Given the description of an element on the screen output the (x, y) to click on. 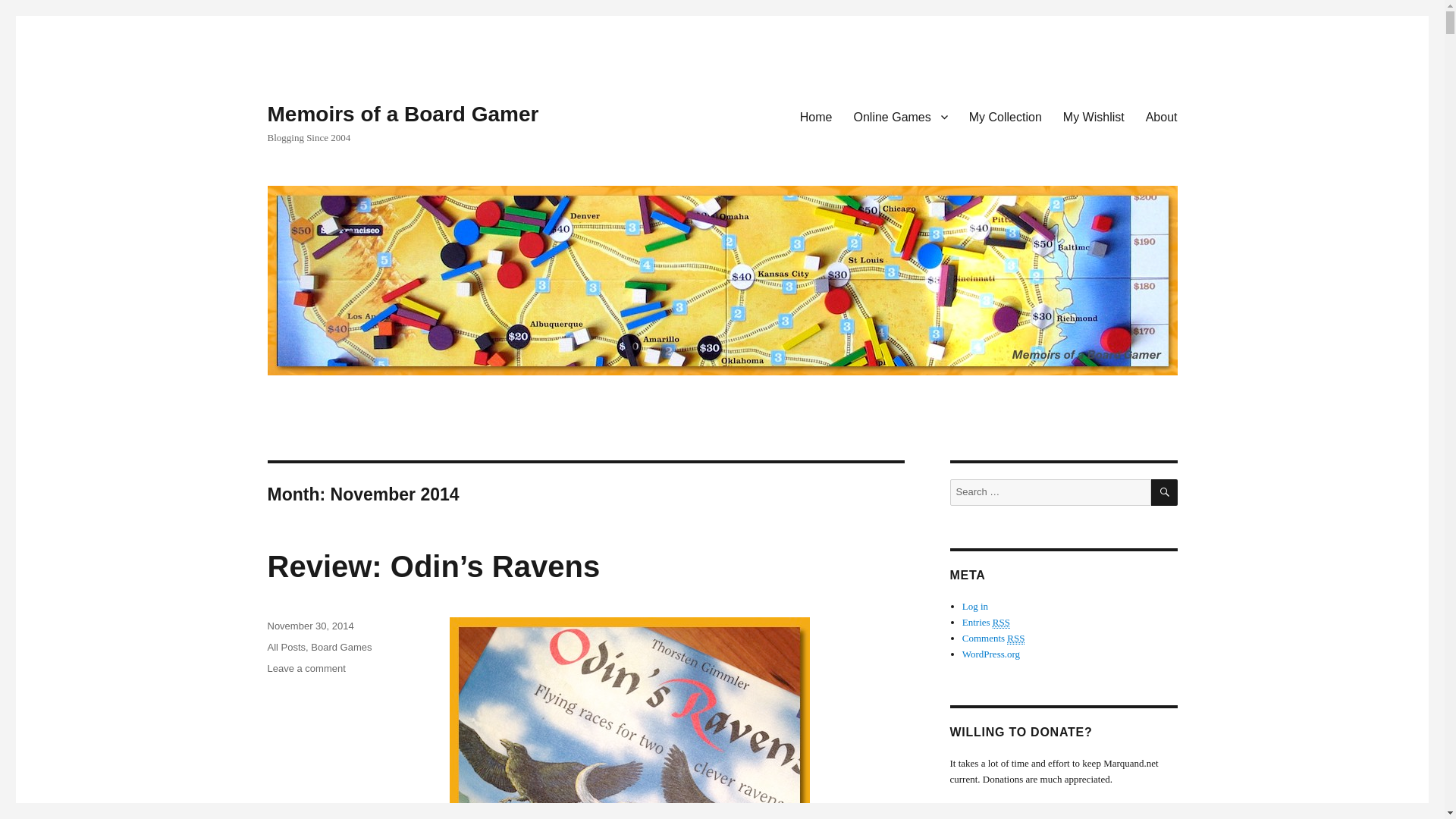
November 30, 2014 (309, 625)
My Wishlist (1093, 116)
Home (816, 116)
Memoirs of a Board Gamer (402, 114)
Online Games (900, 116)
About (1161, 116)
My Collection (1005, 116)
All Posts (285, 646)
Really Simple Syndication (1016, 638)
Board Games (341, 646)
Really Simple Syndication (1001, 622)
